Given the description of an element on the screen output the (x, y) to click on. 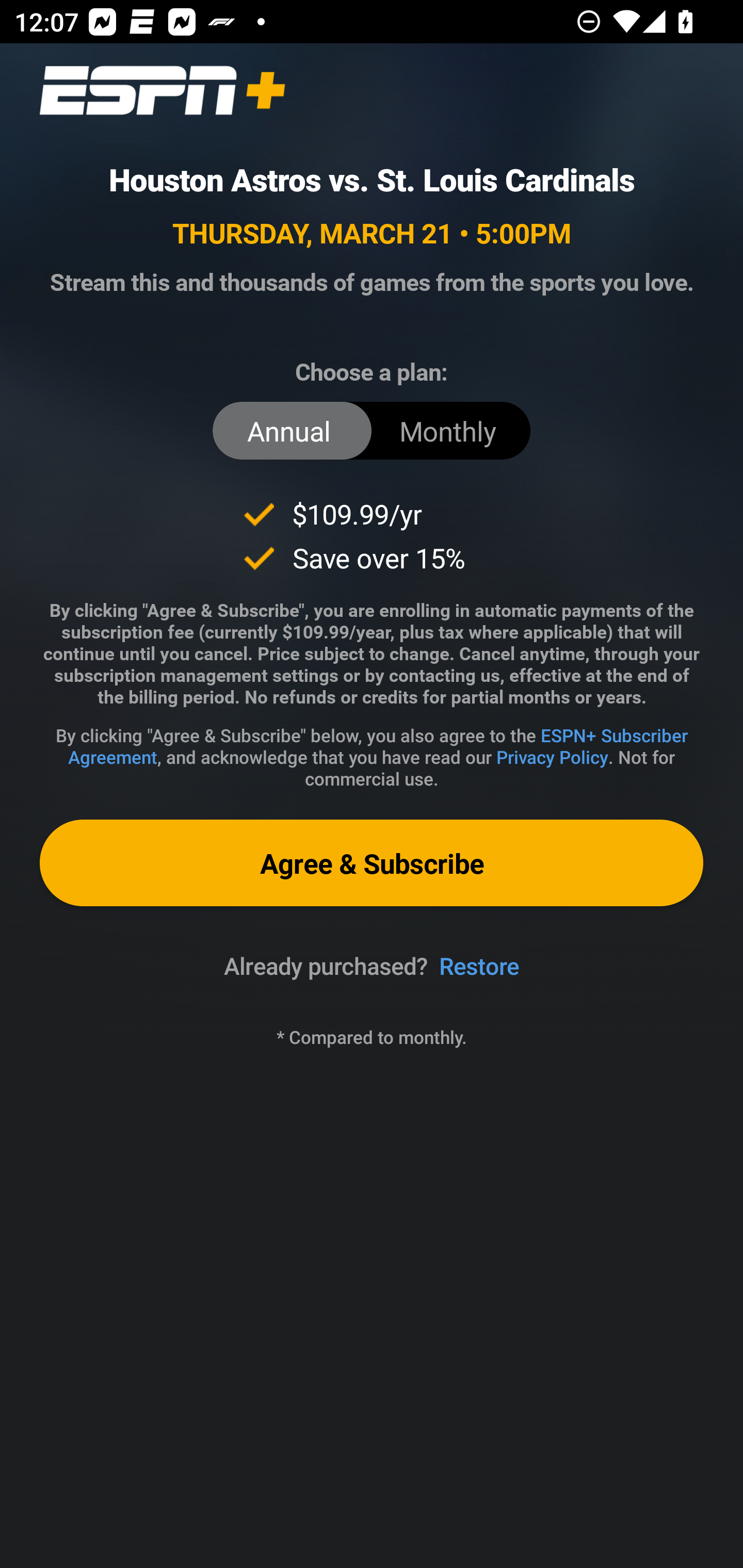
Agree & Subscribe (371, 863)
